Given the description of an element on the screen output the (x, y) to click on. 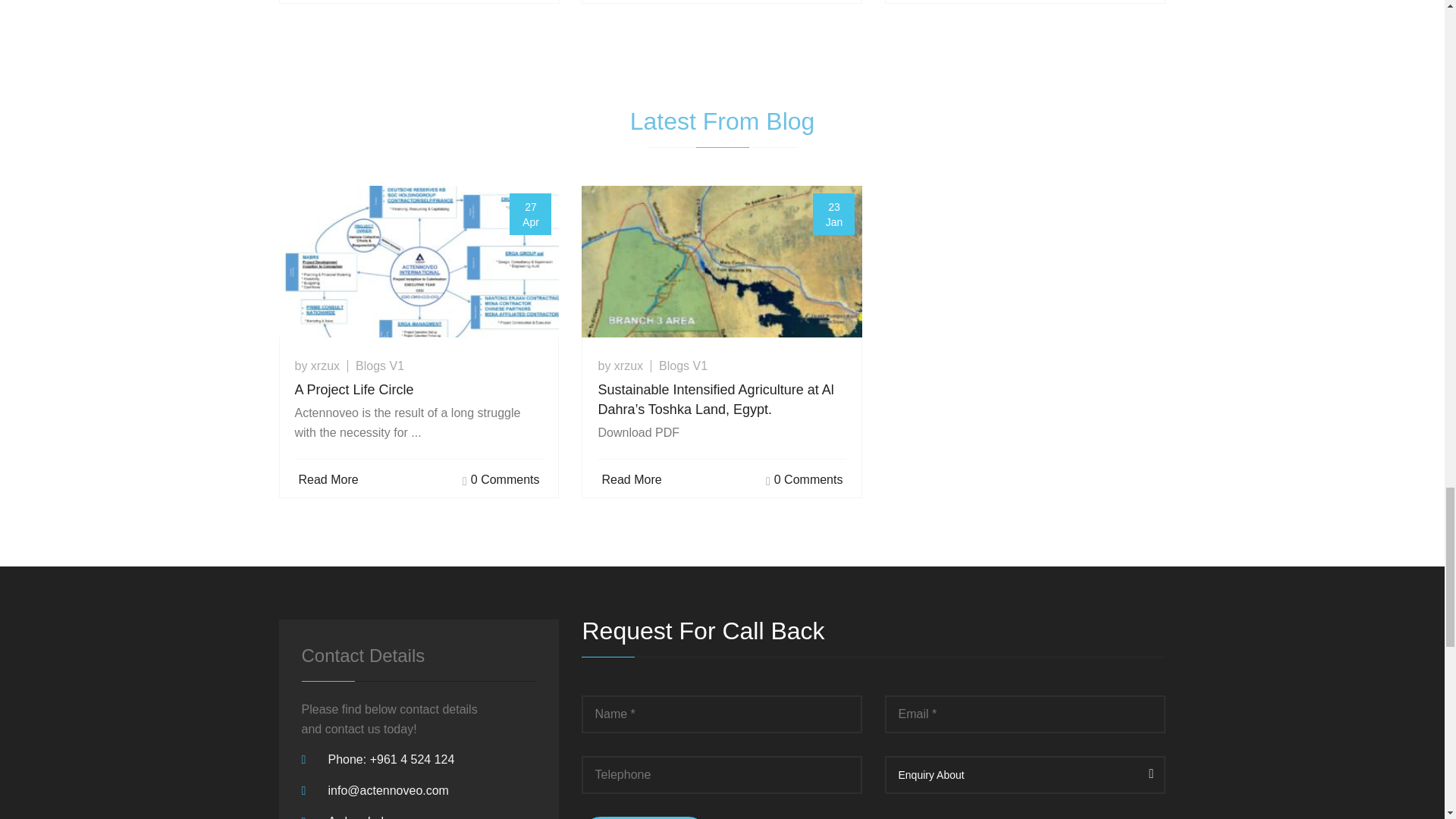
Blogs V1 (683, 365)
Blogs V1 (379, 365)
A Project Life Circle (418, 387)
by xrzux (316, 365)
by xrzux (619, 365)
Read More (326, 479)
